Given the description of an element on the screen output the (x, y) to click on. 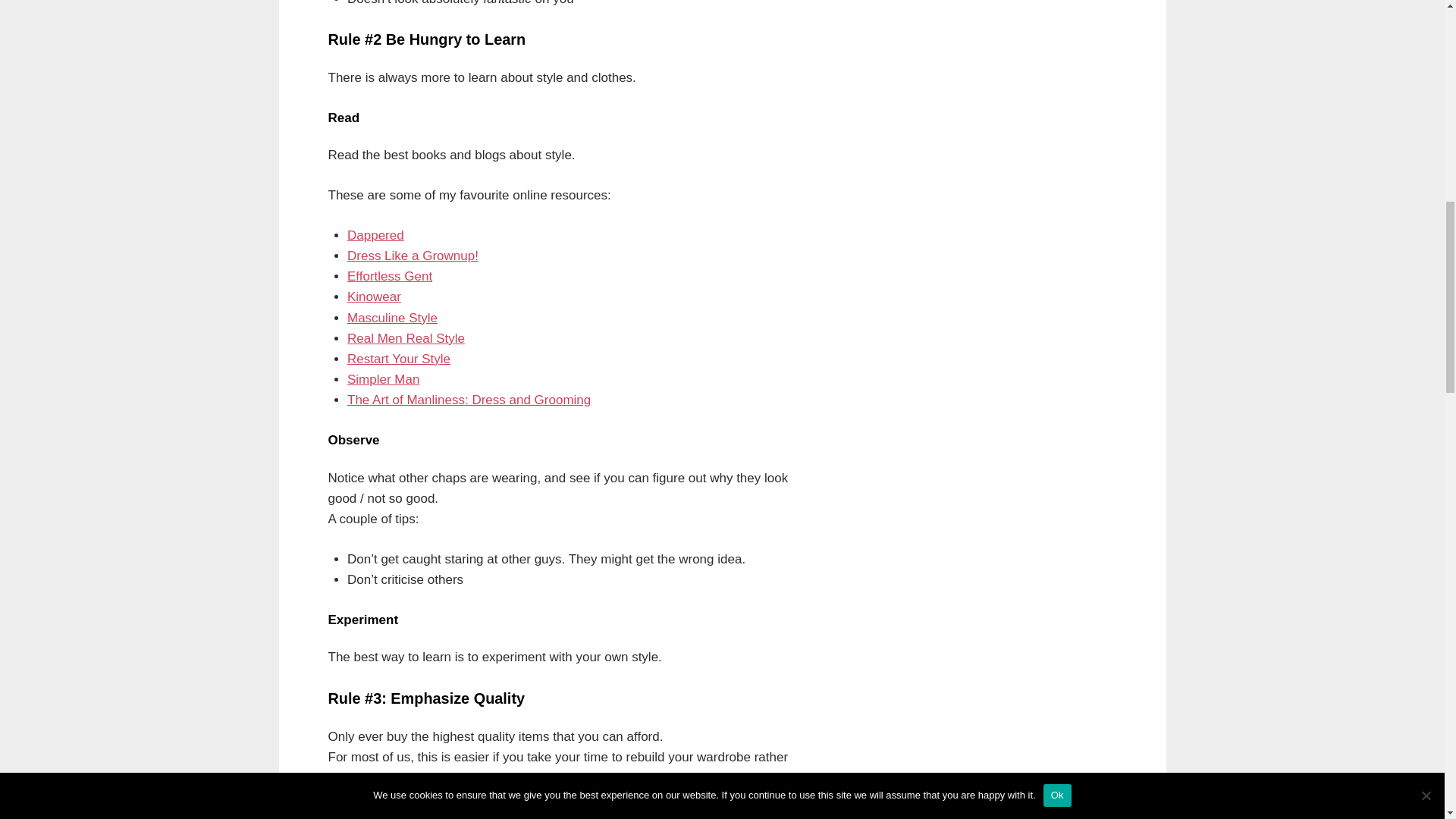
Real Men Real Style (405, 338)
Masculine Style (392, 318)
The Art of Manliness: Dress and Grooming (469, 400)
Simpler Man (383, 379)
Effortless Gent (389, 276)
Restart Your Style (398, 359)
Dappered (375, 235)
Kinowear (374, 296)
Dress Like a Grownup! (413, 255)
